Given the description of an element on the screen output the (x, y) to click on. 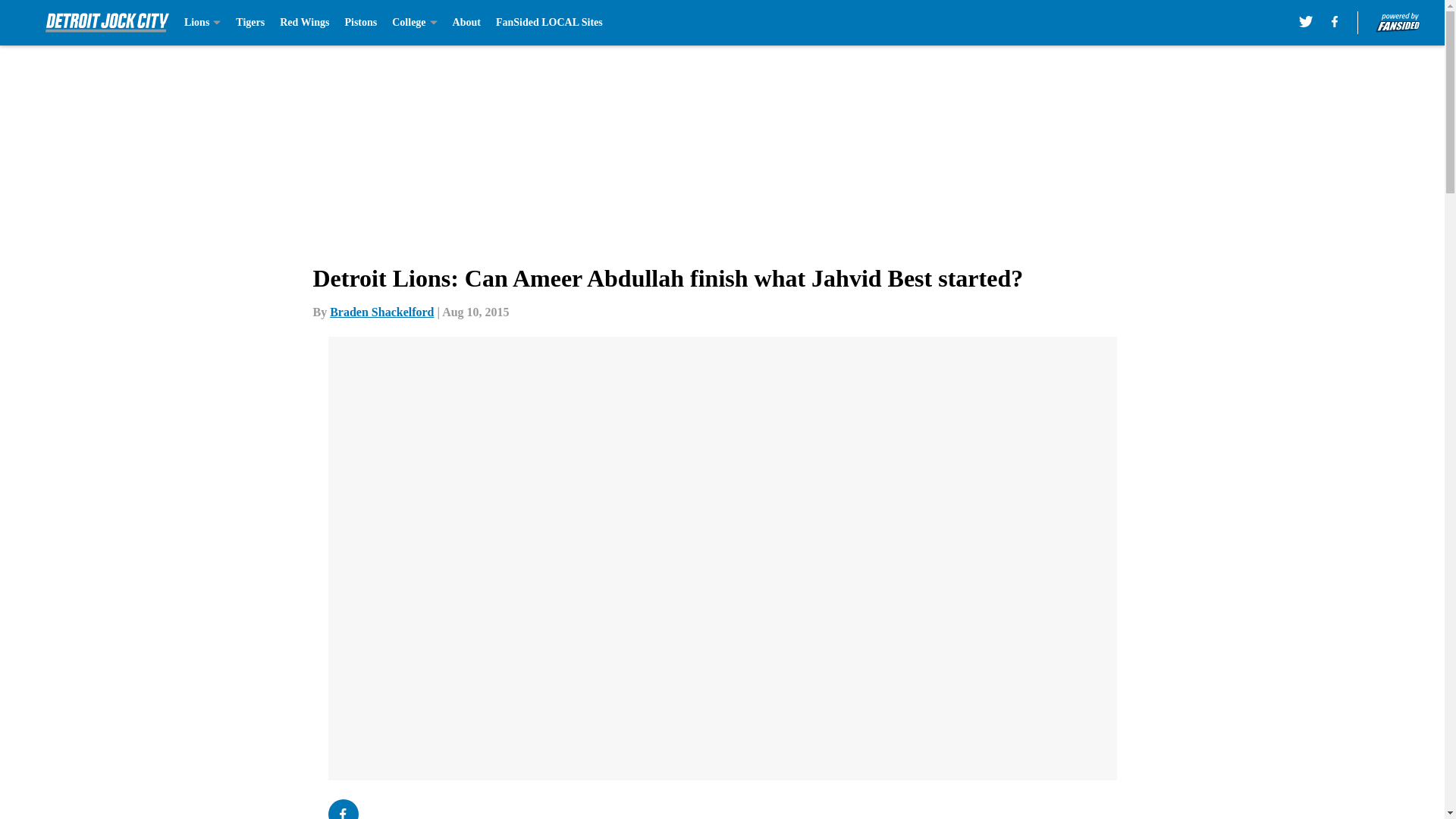
Pistons (360, 22)
Red Wings (304, 22)
Braden Shackelford (381, 311)
Tigers (249, 22)
About (466, 22)
FanSided LOCAL Sites (549, 22)
